Given the description of an element on the screen output the (x, y) to click on. 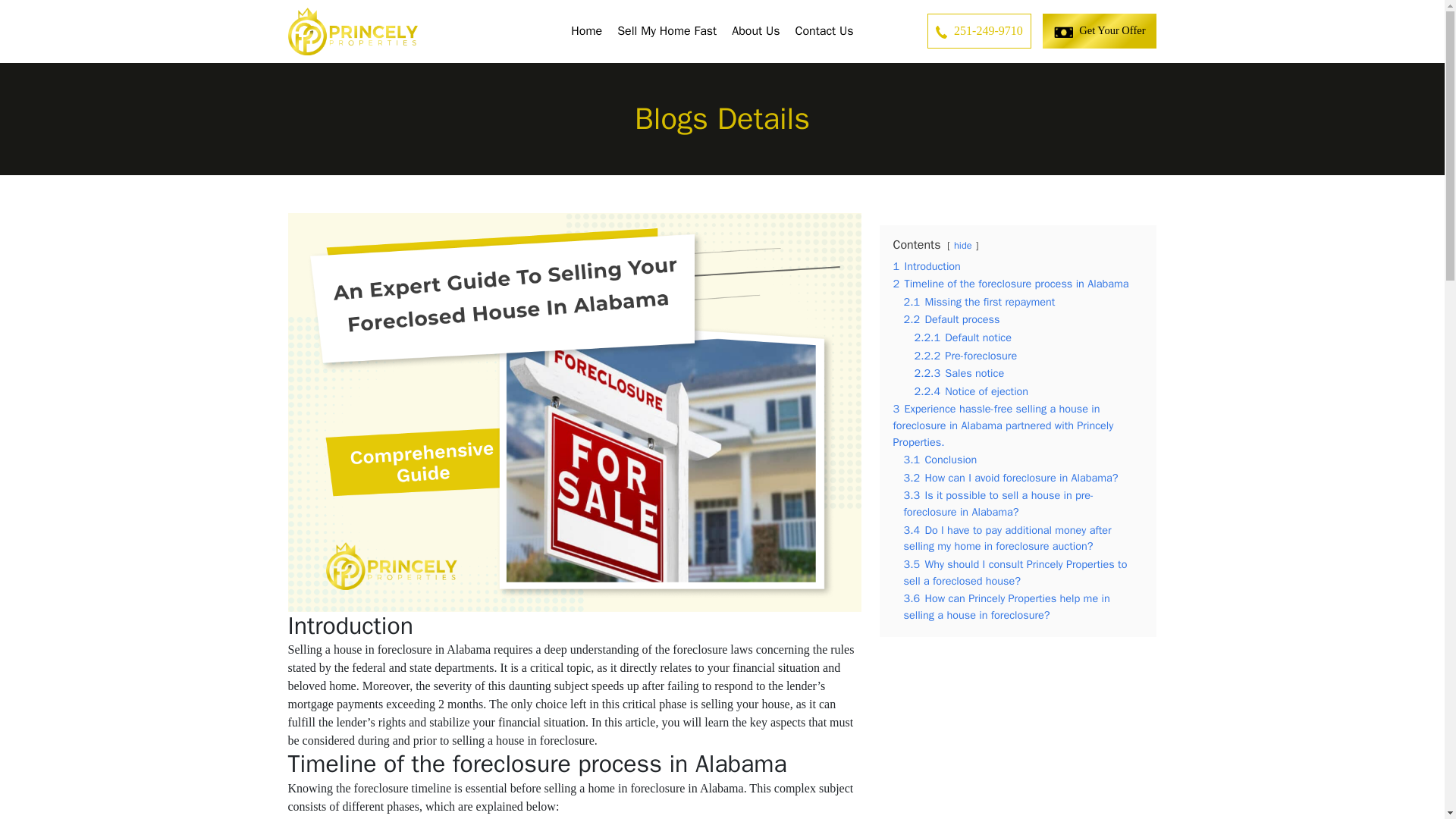
3.1 Conclusion (940, 459)
2.2.3 Sales notice (959, 373)
2.2.1 Default notice (962, 336)
2.1 Missing the first repayment (979, 301)
Get Your Offer (1099, 30)
2 Timeline of the foreclosure process in Alabama (1011, 283)
Home (586, 30)
2.2.4 Notice of ejection (971, 391)
1 Introduction (926, 265)
251-249-9710 (978, 30)
Sell My Home Fast (666, 30)
hide (962, 245)
